Given the description of an element on the screen output the (x, y) to click on. 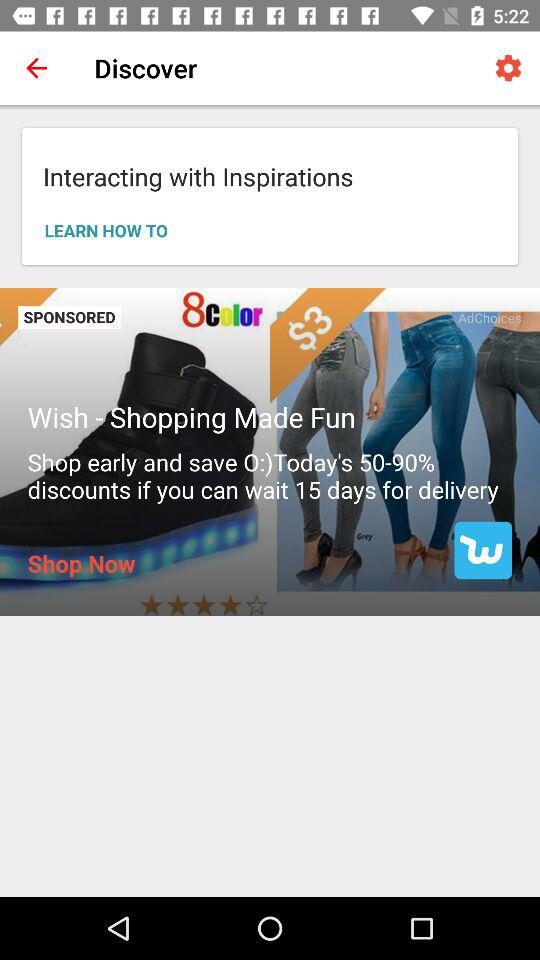
select icon to the right of the discover (508, 67)
